Given the description of an element on the screen output the (x, y) to click on. 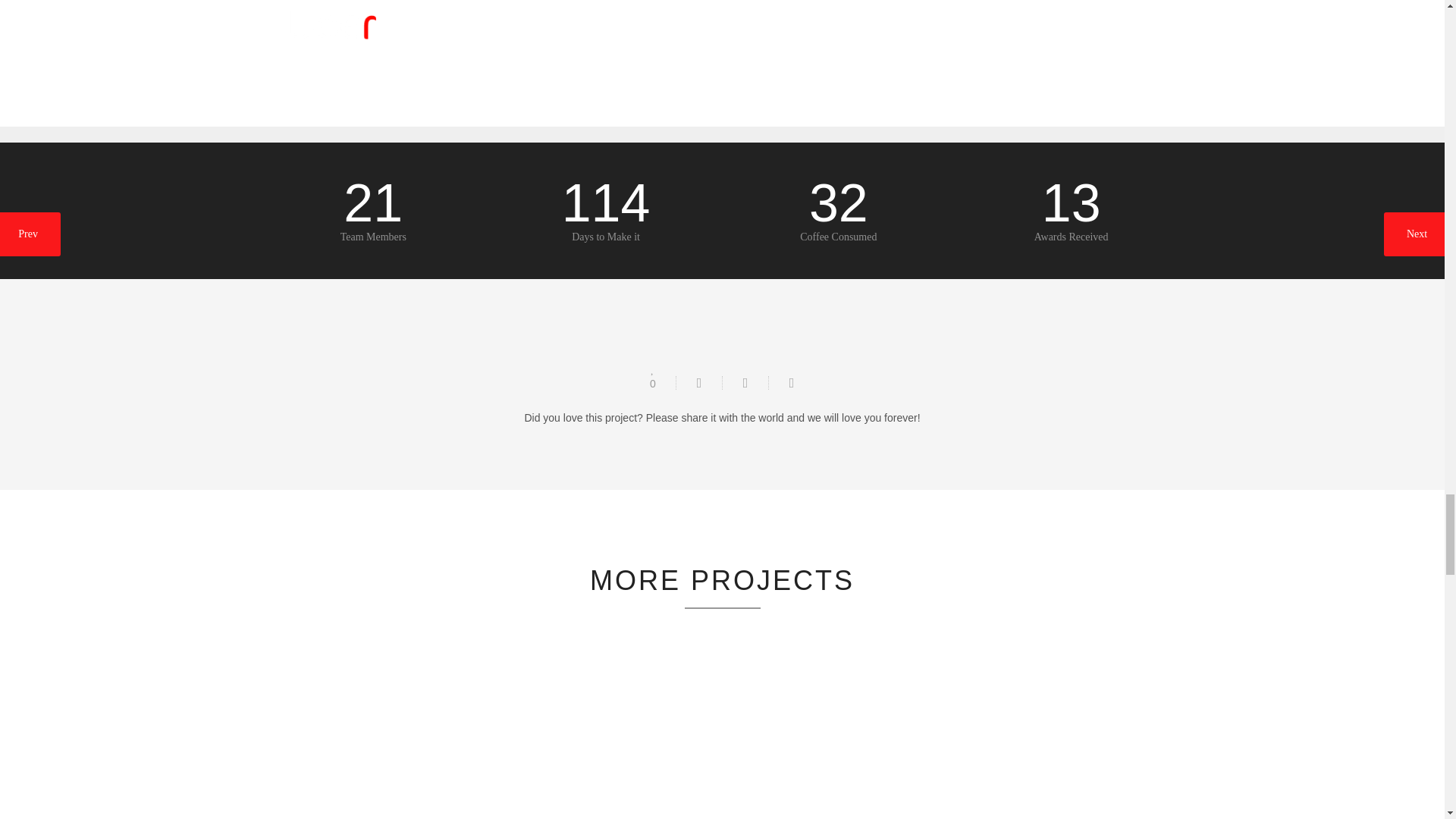
0 (652, 376)
Tweet this (745, 382)
Like this (652, 376)
Pin this (790, 382)
Share this (698, 382)
